Given the description of an element on the screen output the (x, y) to click on. 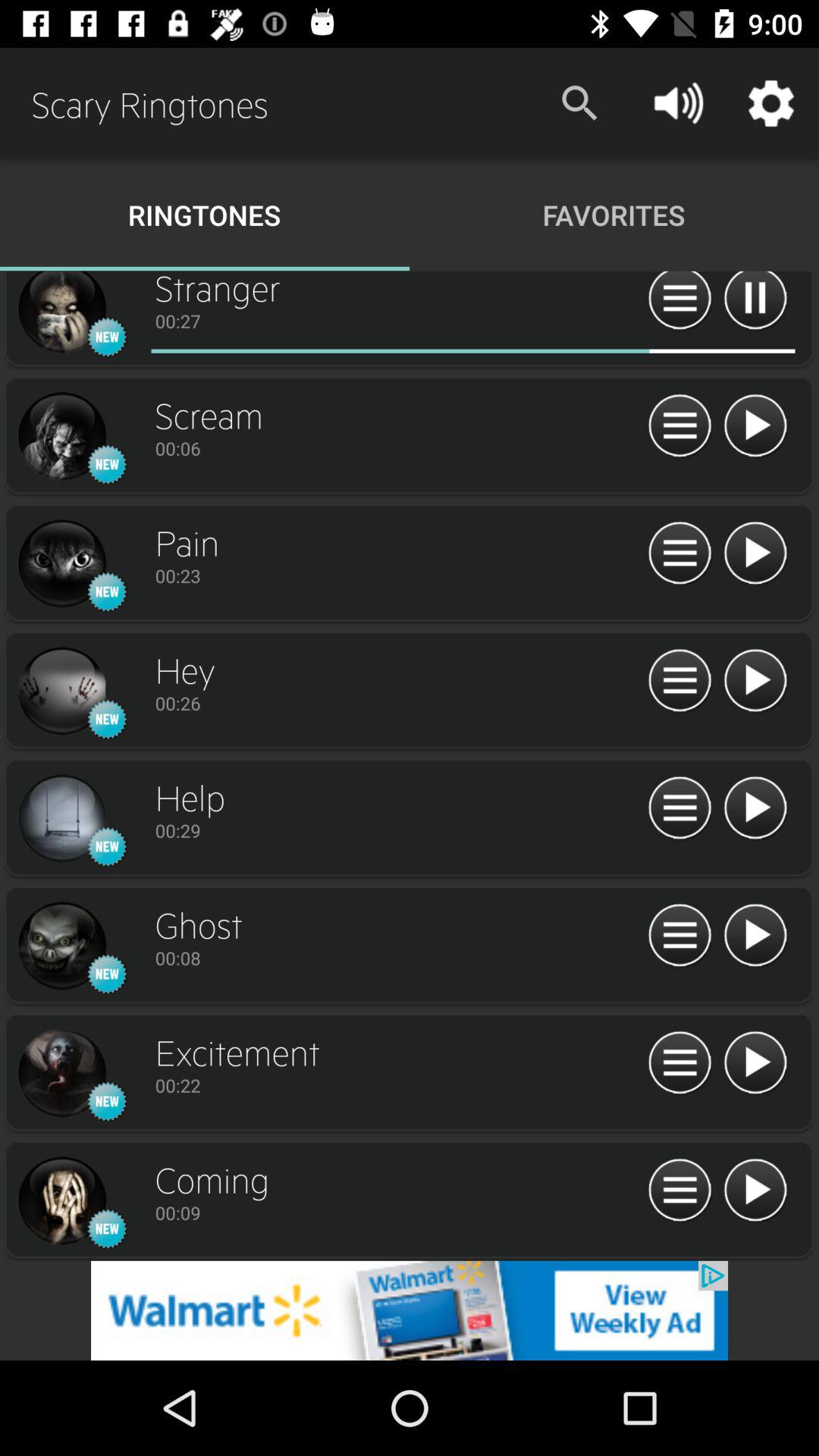
toggle autoplay option (679, 302)
